Given the description of an element on the screen output the (x, y) to click on. 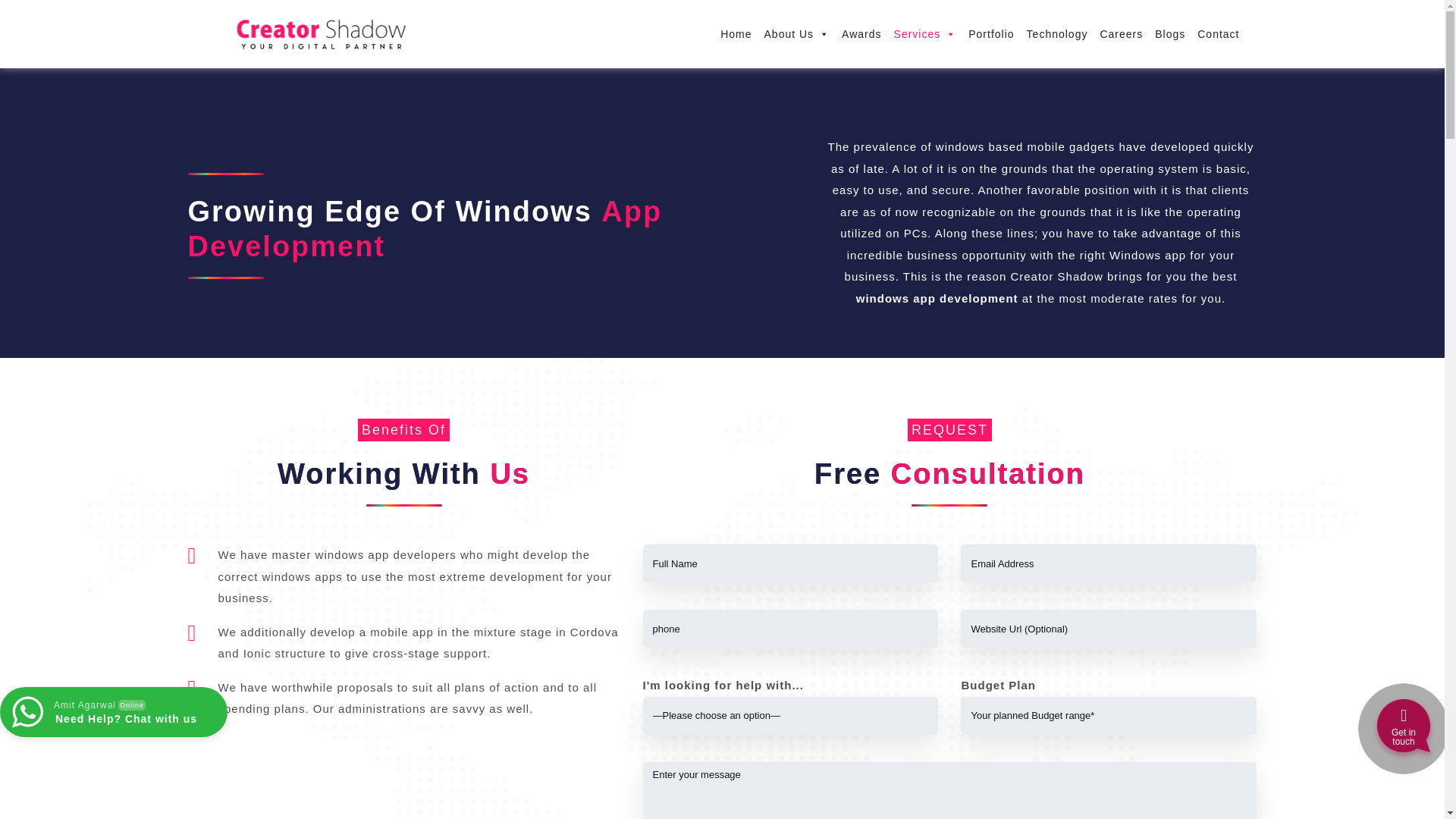
Awards (860, 33)
About Us (796, 33)
Services (925, 33)
Home (735, 33)
